Given the description of an element on the screen output the (x, y) to click on. 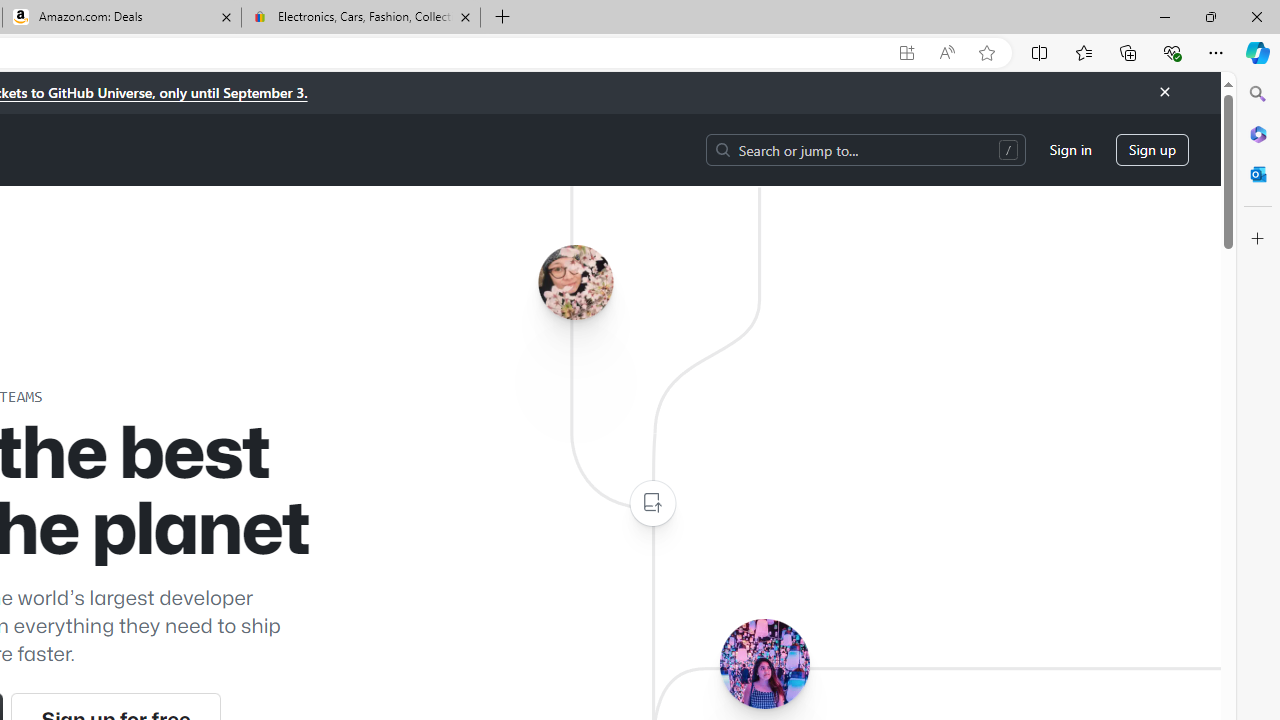
Electronics, Cars, Fashion, Collectibles & More | eBay (360, 17)
Customize (1258, 239)
Avatar of the user ohjoycelau (575, 281)
App available. Install GitHub (906, 53)
Sign up (1152, 149)
